Given the description of an element on the screen output the (x, y) to click on. 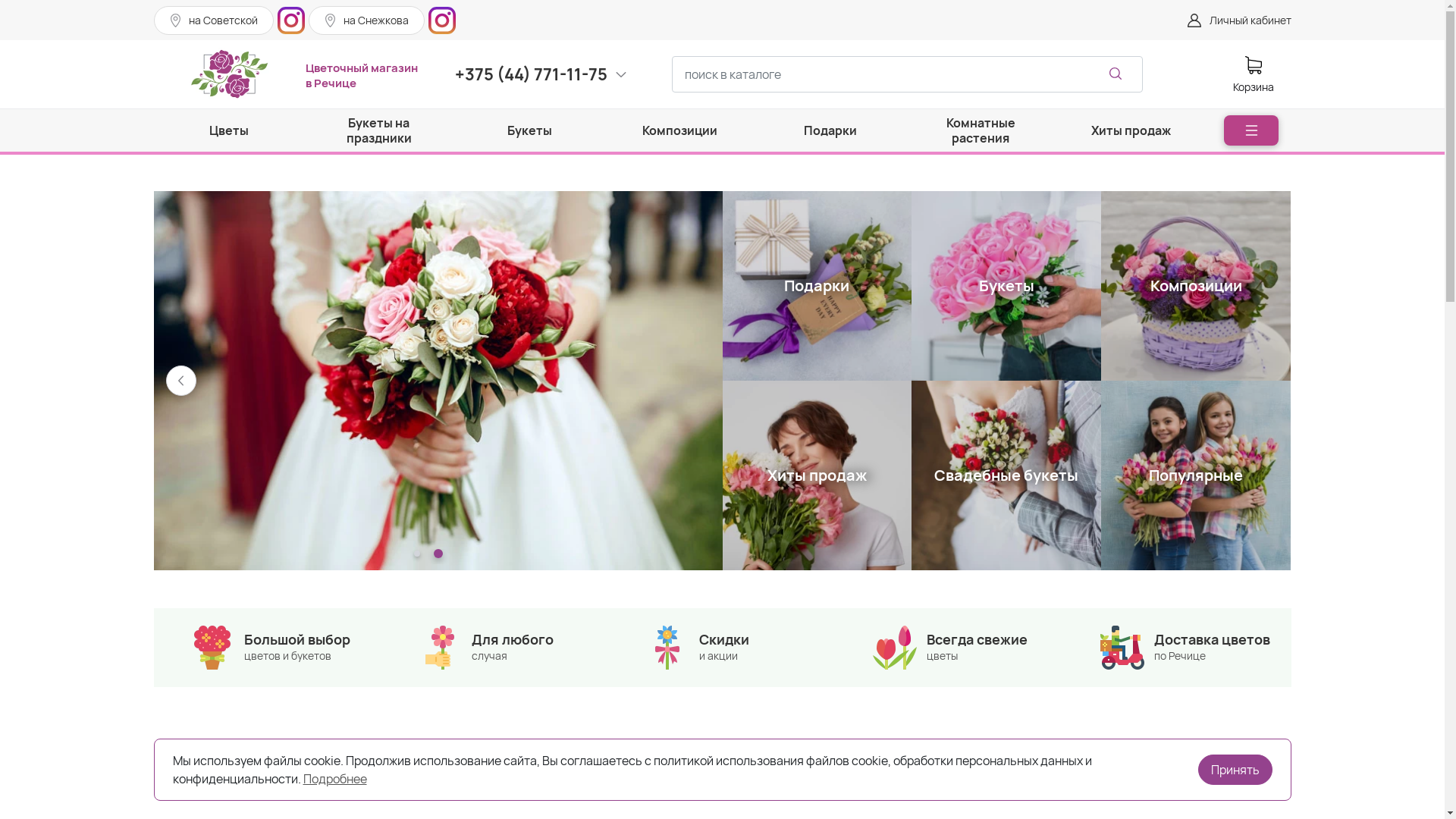
+375 (44) 771-11-75 Element type: text (537, 74)
